Given the description of an element on the screen output the (x, y) to click on. 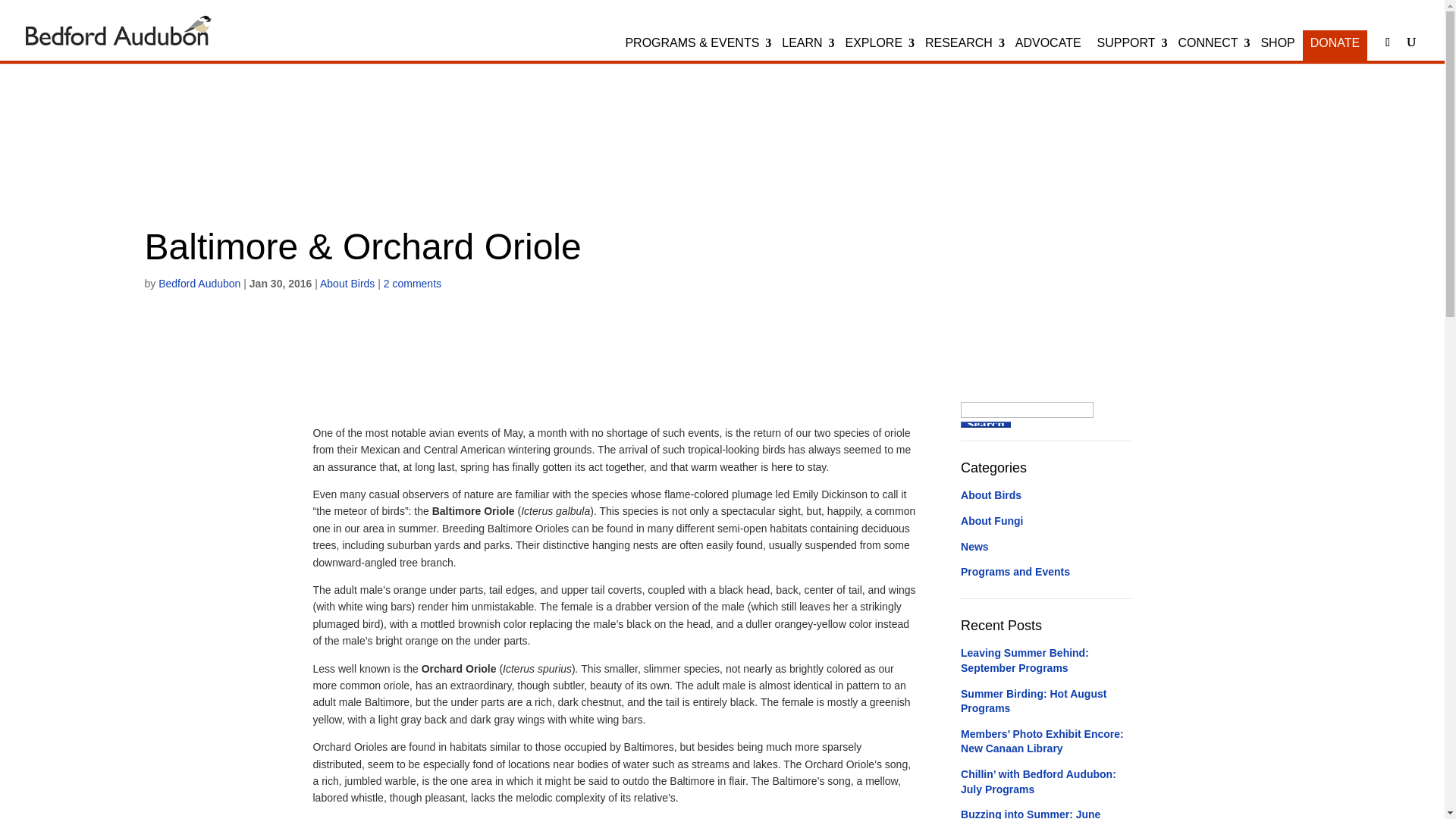
LEARN (809, 53)
ADVOCATE (1047, 53)
Search (985, 424)
Posts by Bedford Audubon (199, 283)
EXPLORE (880, 53)
RESEARCH (965, 53)
SUPPORT (1133, 53)
